Given the description of an element on the screen output the (x, y) to click on. 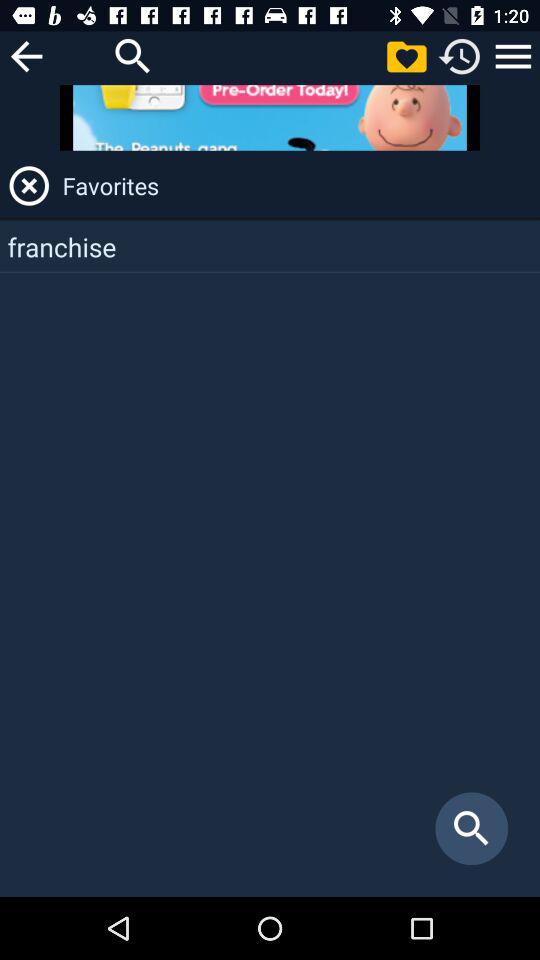
open the favorites icon (298, 185)
